Given the description of an element on the screen output the (x, y) to click on. 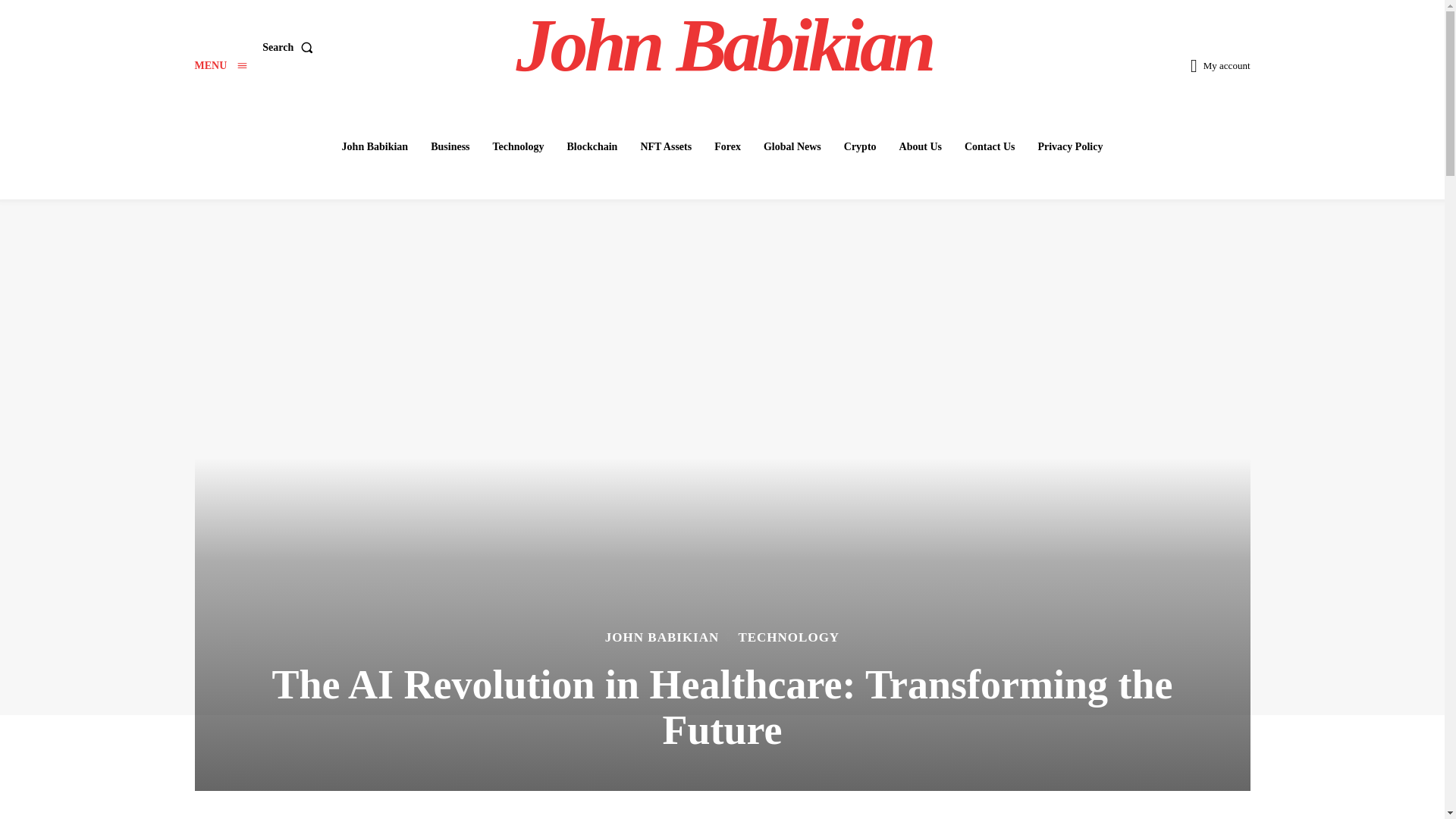
Global News (791, 146)
Contact Us (989, 146)
Privacy Policy (1069, 146)
John Babikian (724, 45)
JOHN BABIKIAN (662, 636)
About Us (920, 146)
John Babikian (724, 45)
Search (290, 47)
MENU (220, 65)
Technology (517, 146)
Crypto (859, 146)
Business (450, 146)
Blockchain (591, 146)
John Babikian (375, 146)
Forex (727, 146)
